Given the description of an element on the screen output the (x, y) to click on. 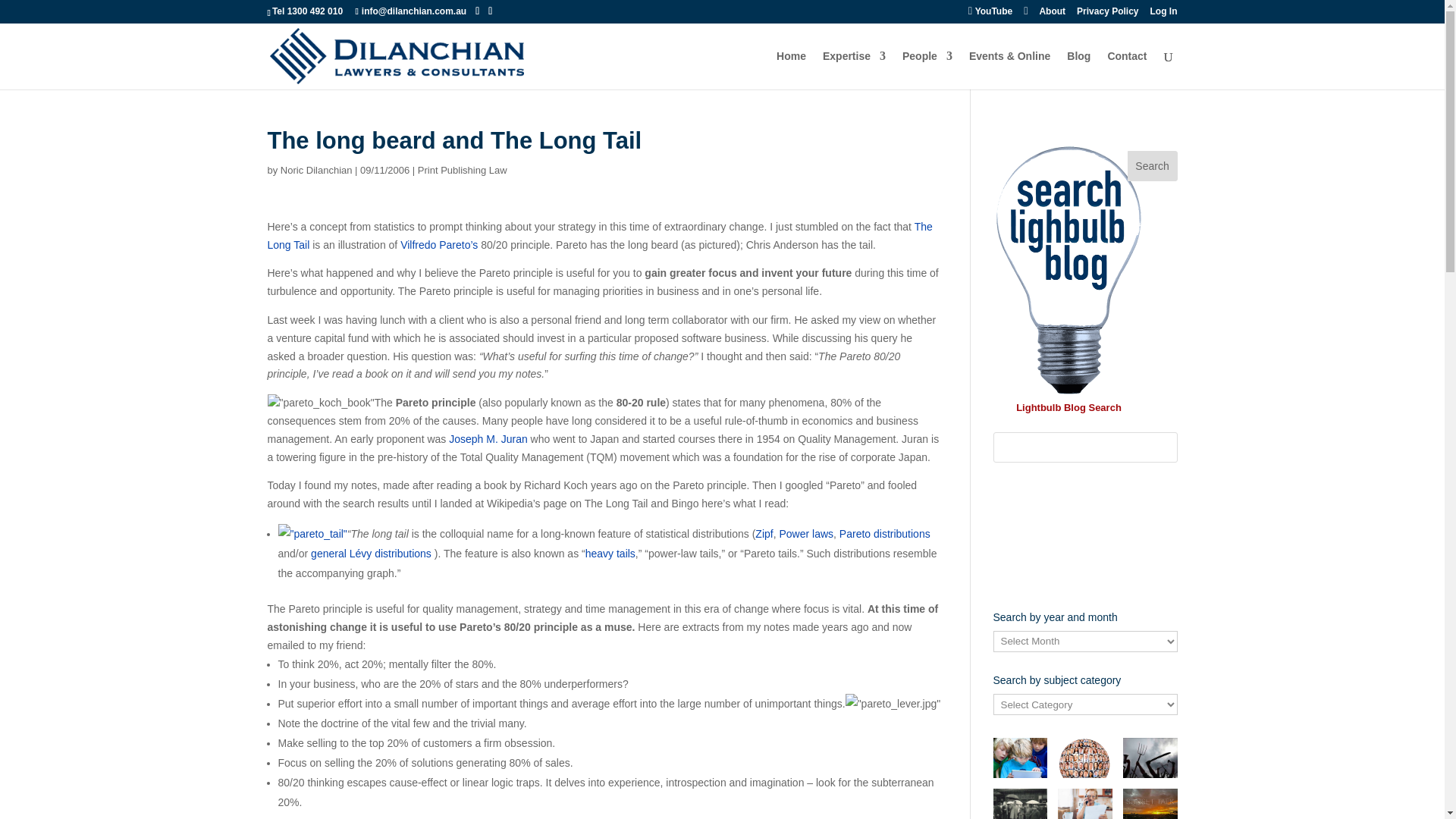
People (927, 69)
"Long-range (609, 553)
"Zipf's (764, 533)
Log In (1163, 14)
Contact (1126, 69)
Expertise (853, 69)
Posts by Noric Dilanchian (316, 170)
"Power (822, 533)
"Power (795, 533)
Search (1151, 165)
